Given the description of an element on the screen output the (x, y) to click on. 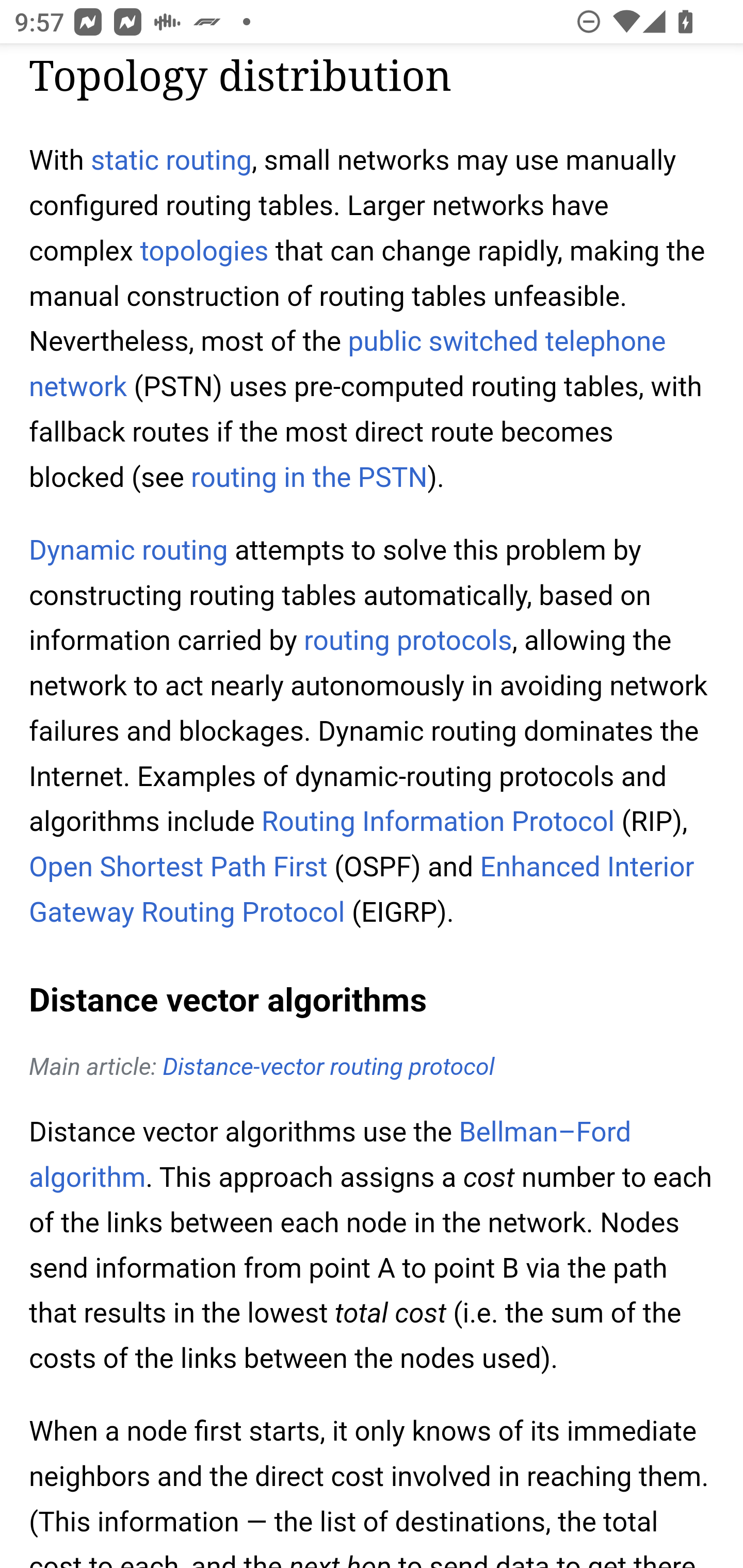
static routing (171, 161)
topologies (203, 251)
public switched telephone network (347, 364)
routing in the PSTN (308, 477)
Dynamic routing (128, 550)
routing protocols (407, 641)
Routing Information Protocol (437, 821)
Open Shortest Path First (178, 867)
Enhanced Interior Gateway Routing Protocol (361, 890)
Distance-vector routing protocol (328, 1068)
Bellman–Ford algorithm (330, 1155)
